Given the description of an element on the screen output the (x, y) to click on. 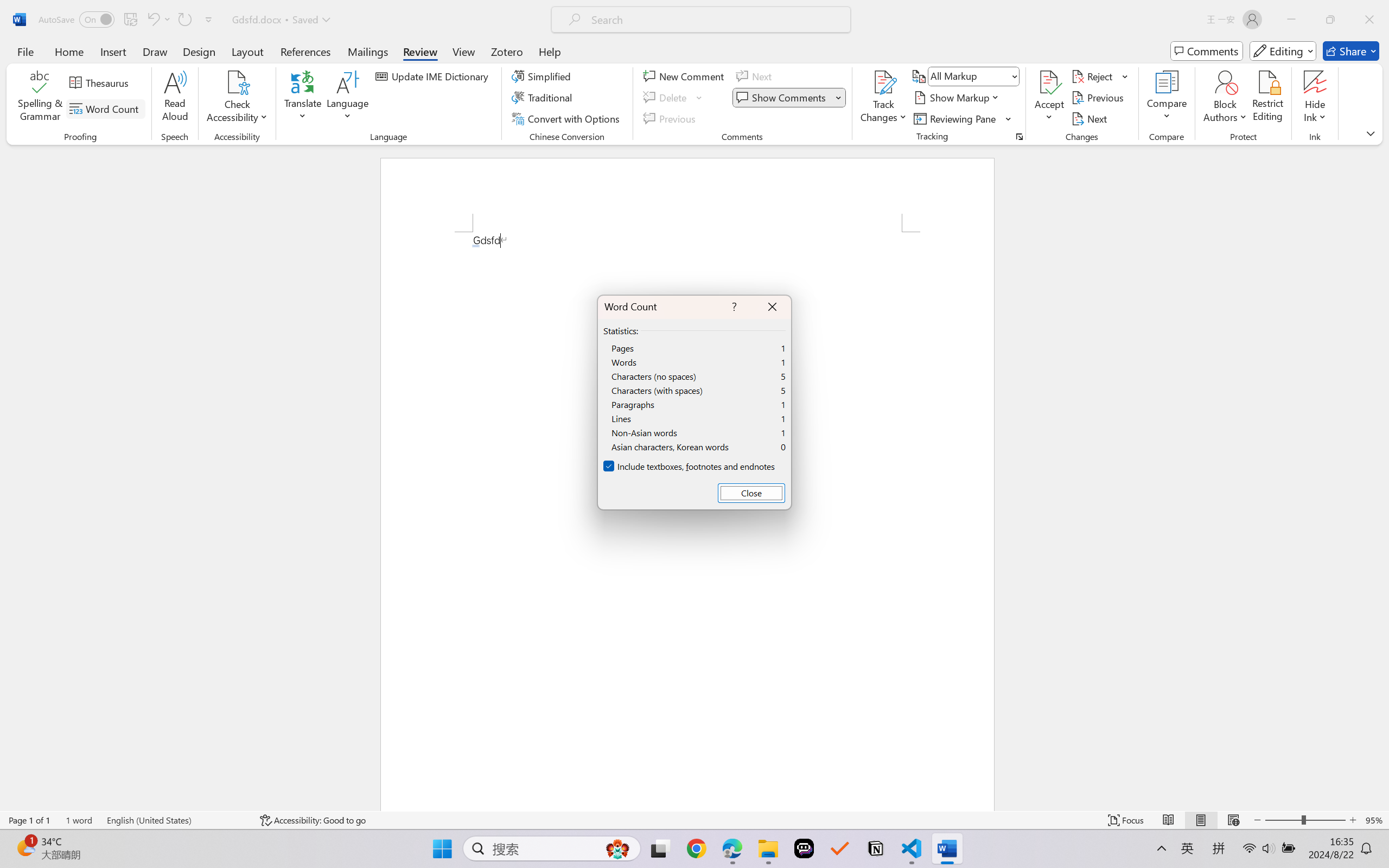
Undo AutoCorrect (152, 19)
Next (1090, 118)
Traditional (543, 97)
Track Changes (883, 97)
Action: Undo Auto Actions (475, 245)
Undo AutoCorrect (158, 19)
Track Changes (883, 81)
Display for Review (973, 75)
